Given the description of an element on the screen output the (x, y) to click on. 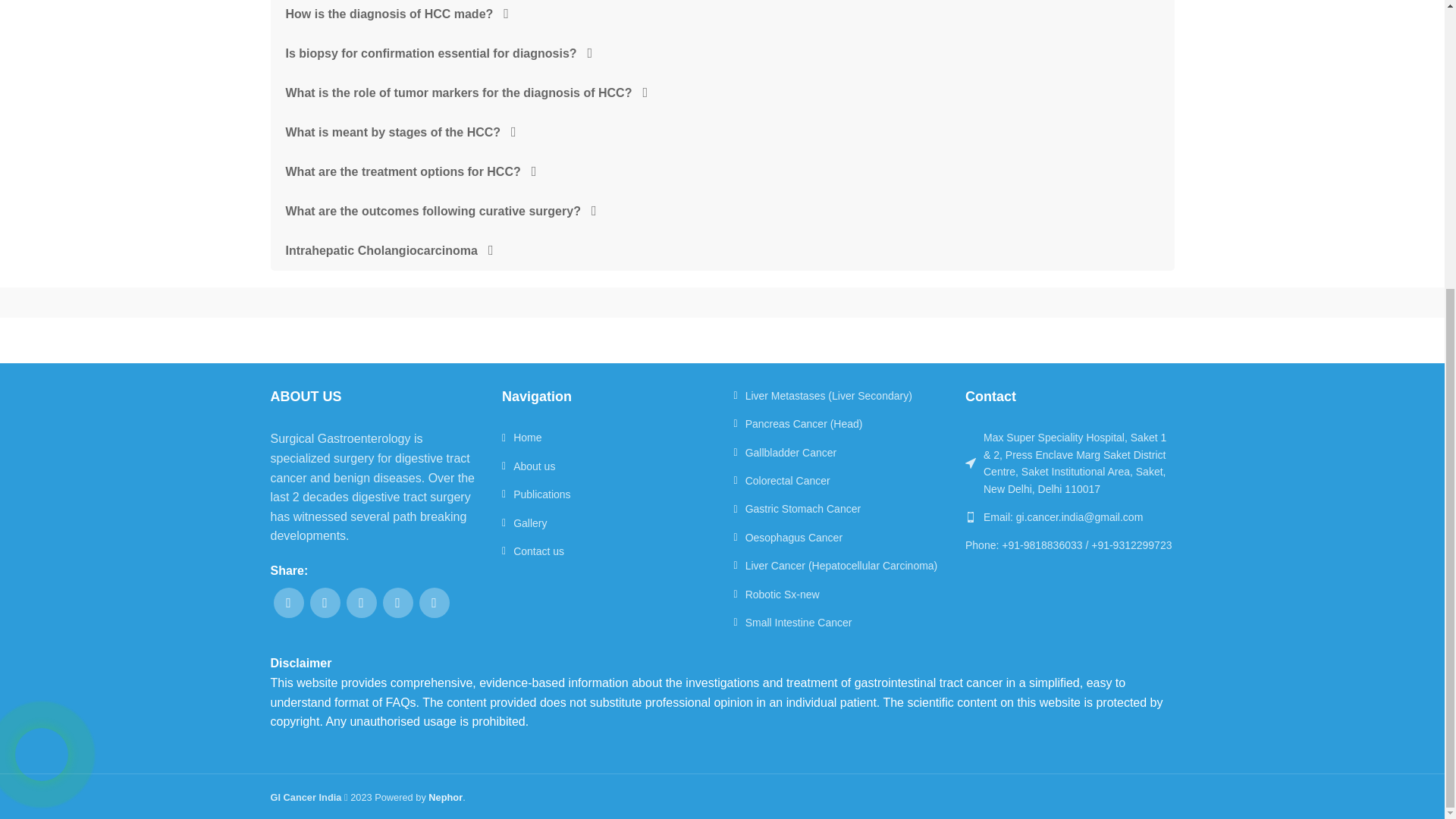
About us (606, 466)
